Given the description of an element on the screen output the (x, y) to click on. 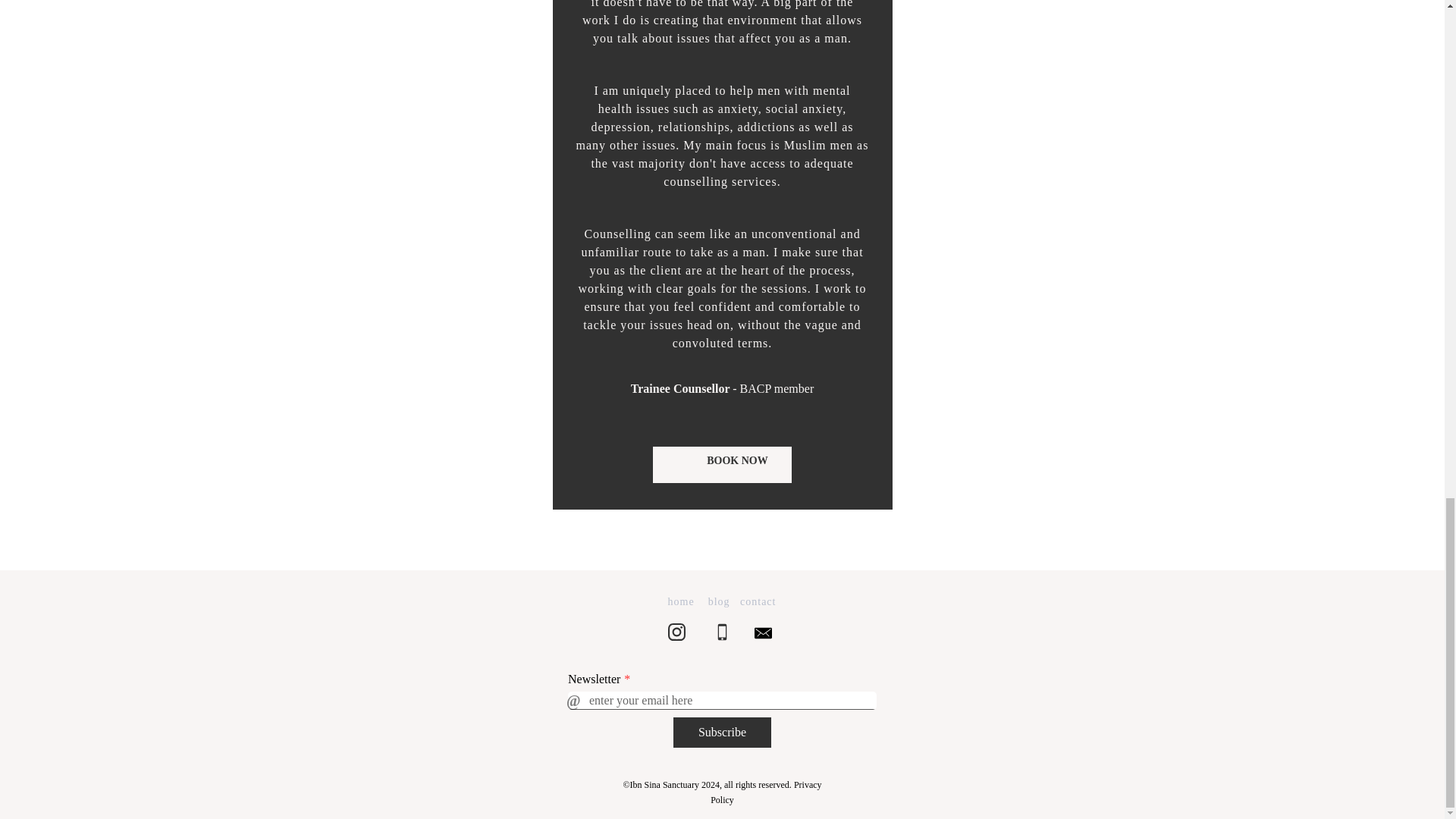
blog (718, 600)
contact (757, 600)
home (681, 600)
Privacy Policy (765, 791)
BOOK NOW (722, 464)
